Given the description of an element on the screen output the (x, y) to click on. 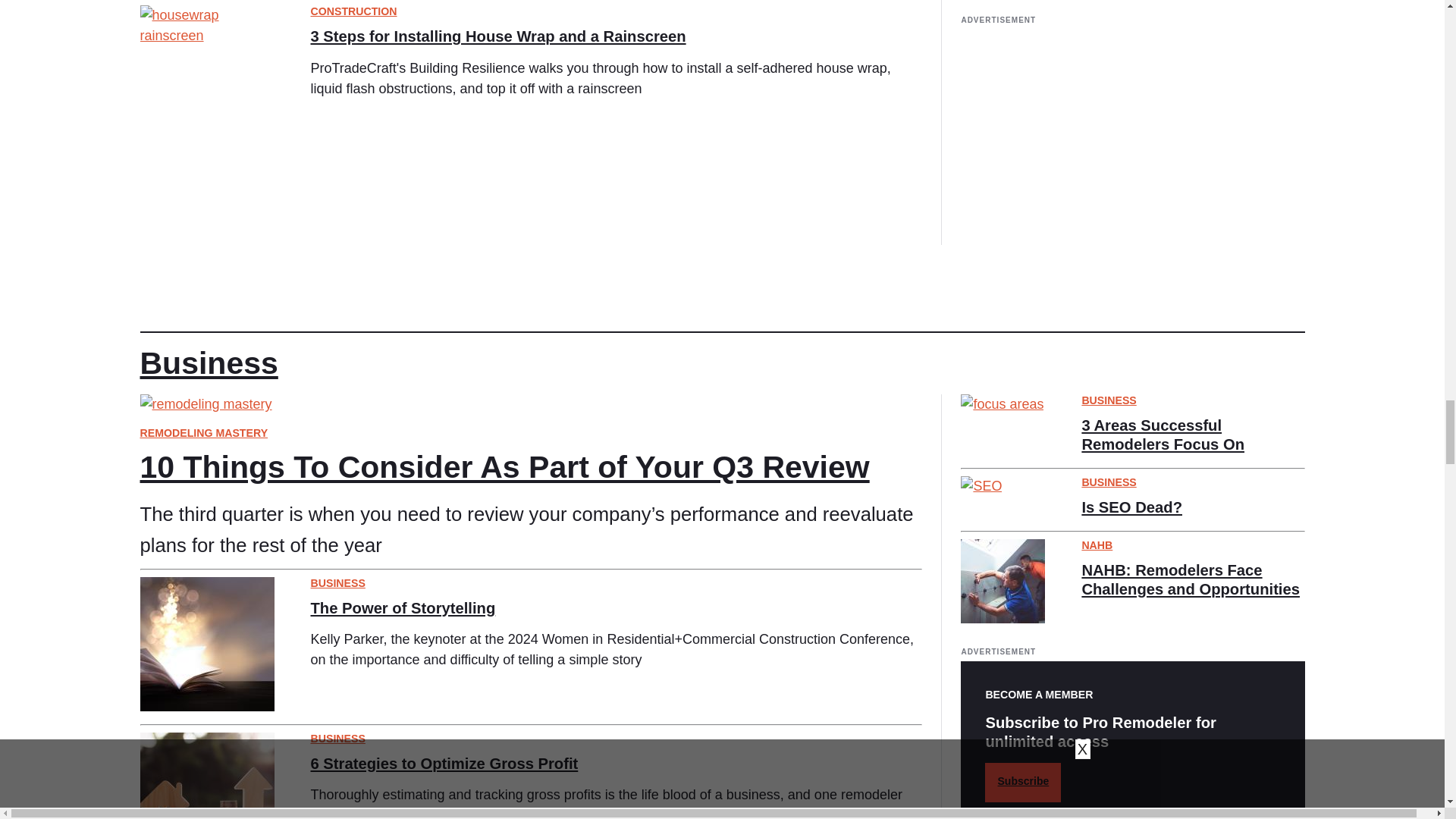
Photo Credit: Adobe  (206, 775)
Photo Credit: Adobe (206, 644)
3rd party ad content (1132, 135)
